Given the description of an element on the screen output the (x, y) to click on. 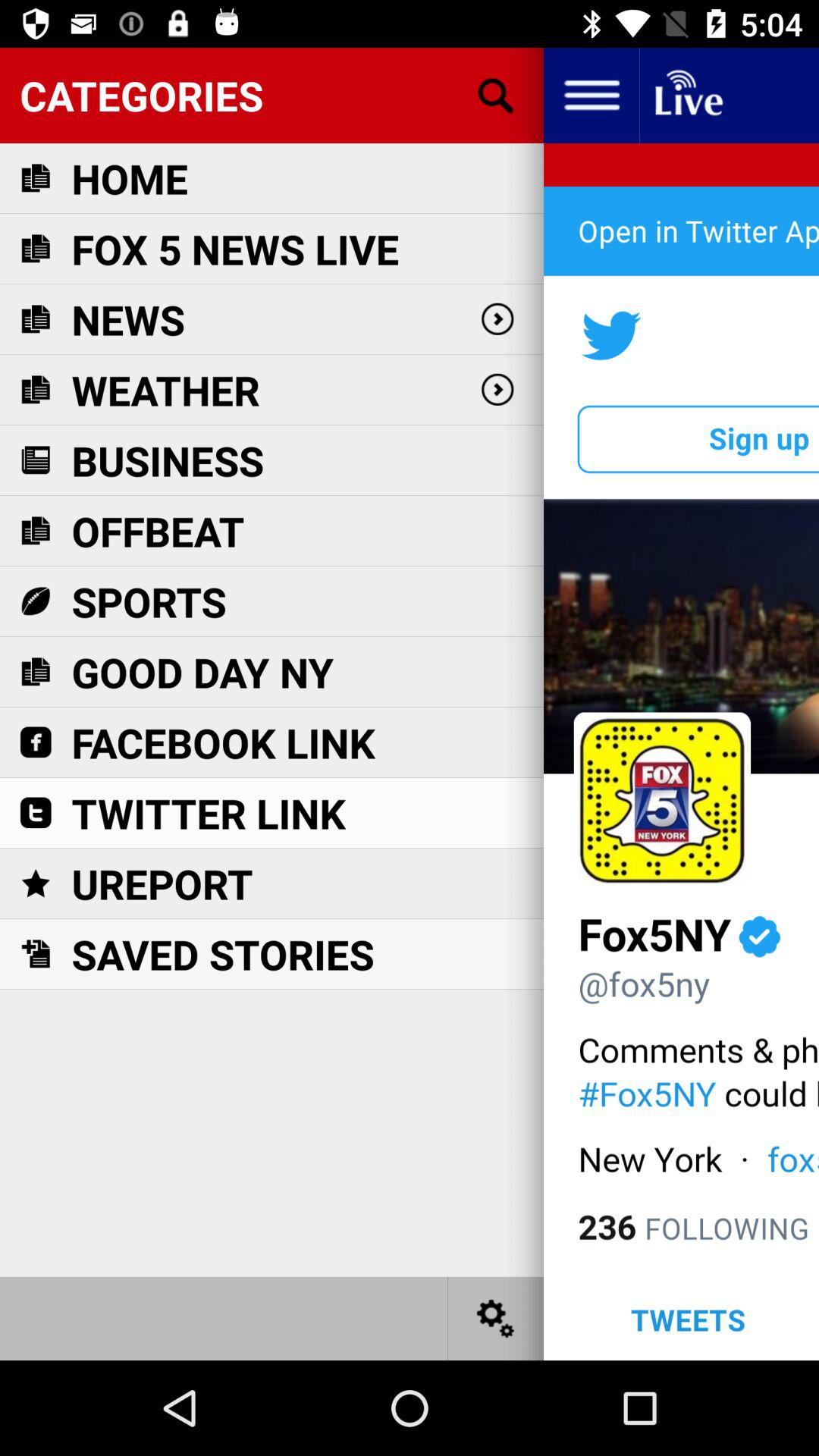
turn off saved stories (222, 953)
